Given the description of an element on the screen output the (x, y) to click on. 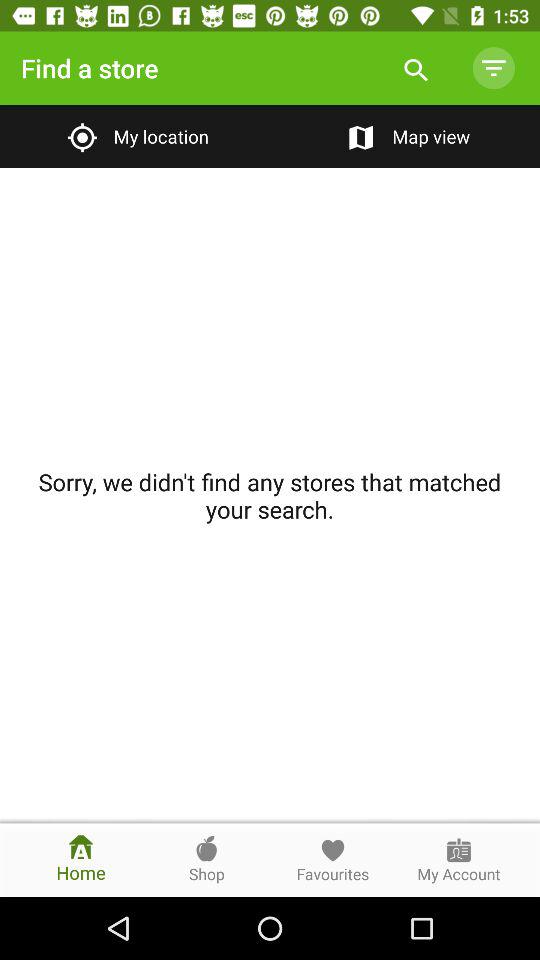
choose my location item (134, 136)
